Given the description of an element on the screen output the (x, y) to click on. 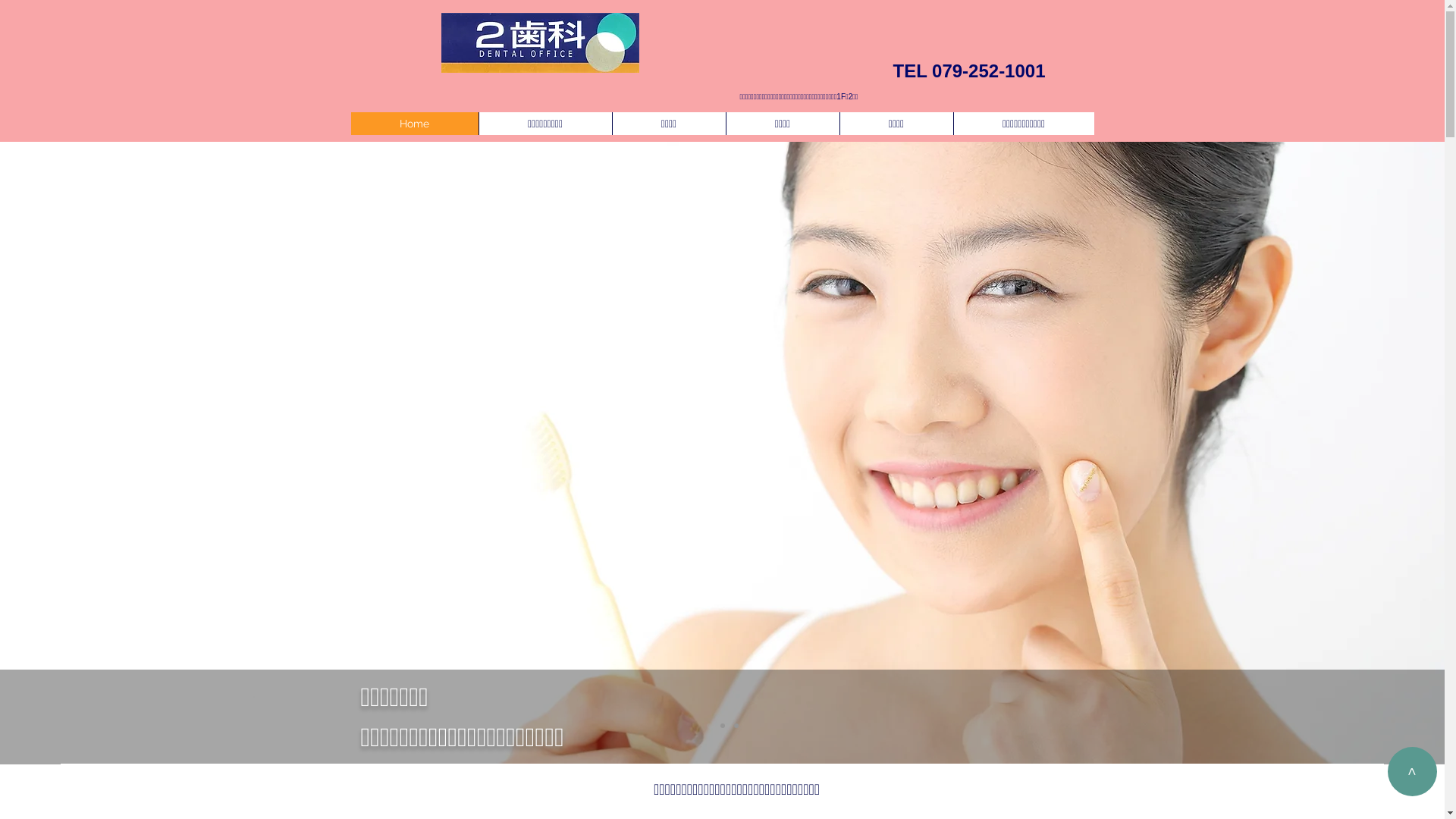
> Element type: text (1412, 771)
Home Element type: text (413, 123)
